Given the description of an element on the screen output the (x, y) to click on. 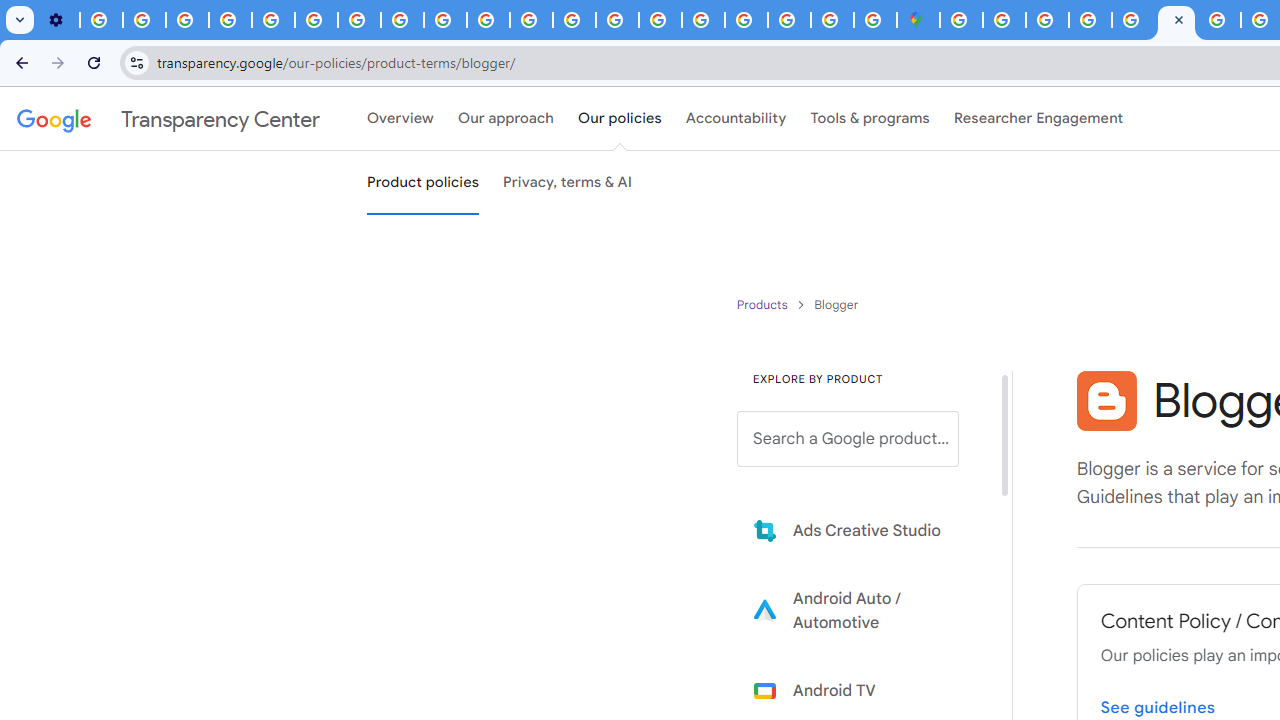
Delete photos & videos - Computer - Google Photos Help (100, 20)
Our approach (506, 119)
Our policies (619, 119)
Learn more about Ads Creative Studio (862, 530)
Tools & programs (869, 119)
Sign in - Google Accounts (961, 20)
Sign in - Google Accounts (745, 20)
Sign in - Google Accounts (1004, 20)
Privacy Help Center - Policies Help (574, 20)
Learn more about Android Auto (862, 610)
